Given the description of an element on the screen output the (x, y) to click on. 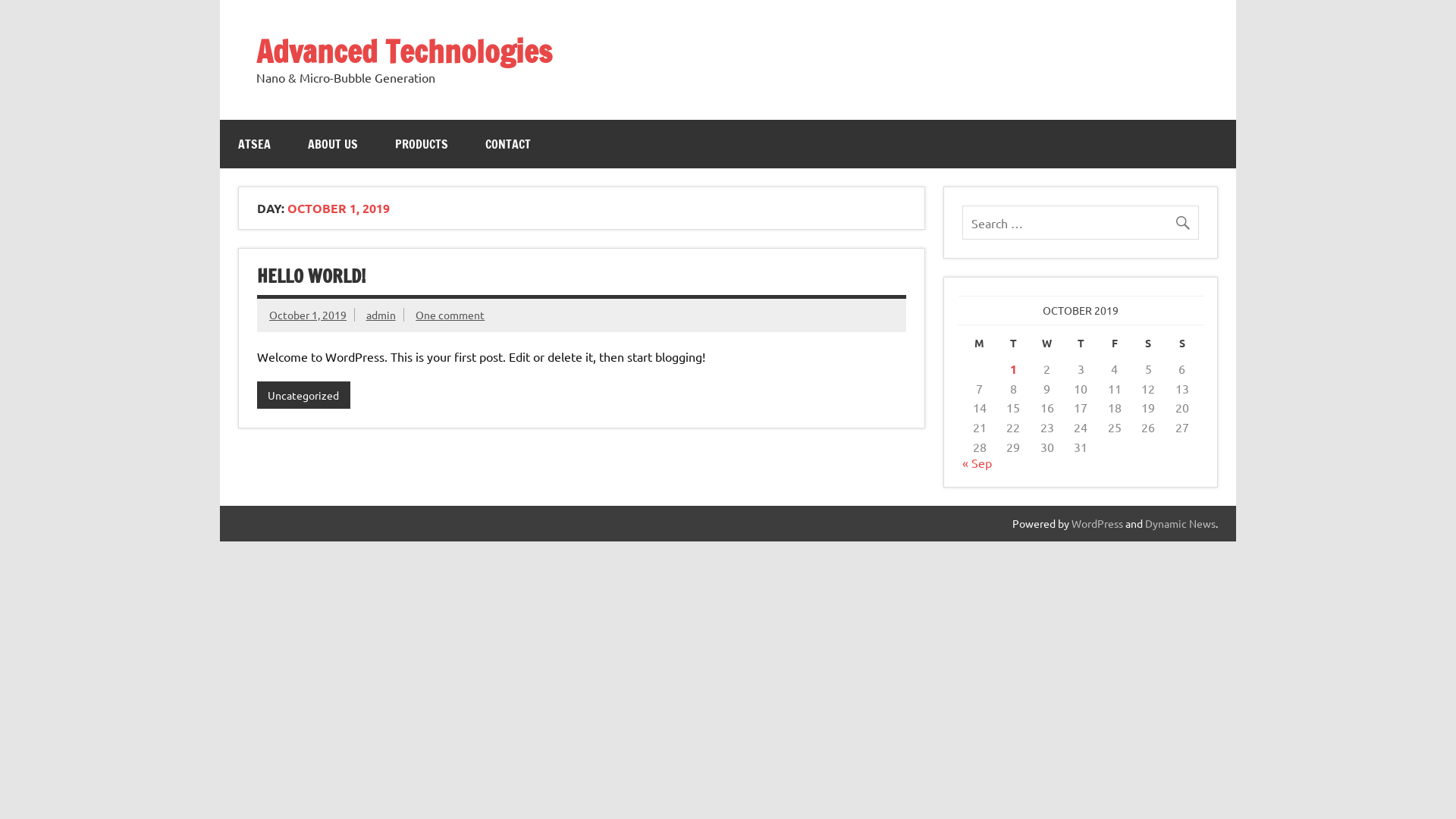
Advanced Technologies Element type: text (404, 50)
PRODUCTS Element type: text (421, 143)
WordPress Element type: text (1097, 523)
ATSEA Element type: text (253, 143)
Uncategorized Element type: text (303, 394)
HELLO WORLD! Element type: text (311, 275)
1 Element type: text (1013, 368)
admin Element type: text (380, 314)
One comment Element type: text (449, 314)
ABOUT US Element type: text (332, 143)
October 1, 2019 Element type: text (307, 314)
Dynamic News Element type: text (1180, 523)
CONTACT Element type: text (508, 143)
